Given the description of an element on the screen output the (x, y) to click on. 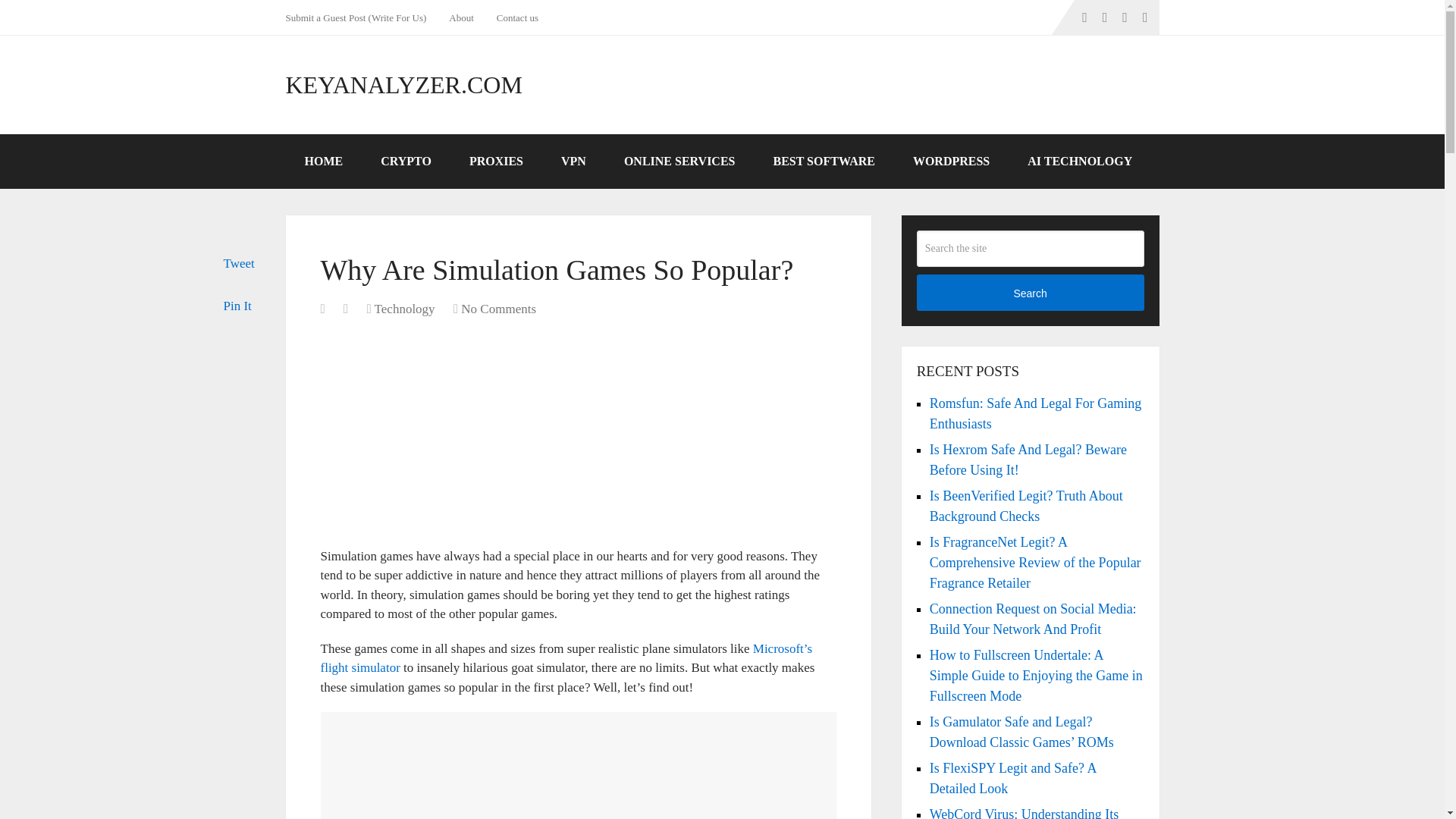
BEST SOFTWARE (823, 161)
AI TECHNOLOGY (1080, 161)
View all posts in Technology (404, 309)
Technology (404, 309)
PROXIES (495, 161)
Contact us (517, 17)
HOME (323, 161)
VPN (573, 161)
KEYANALYZER.COM (403, 84)
About (461, 17)
